Given the description of an element on the screen output the (x, y) to click on. 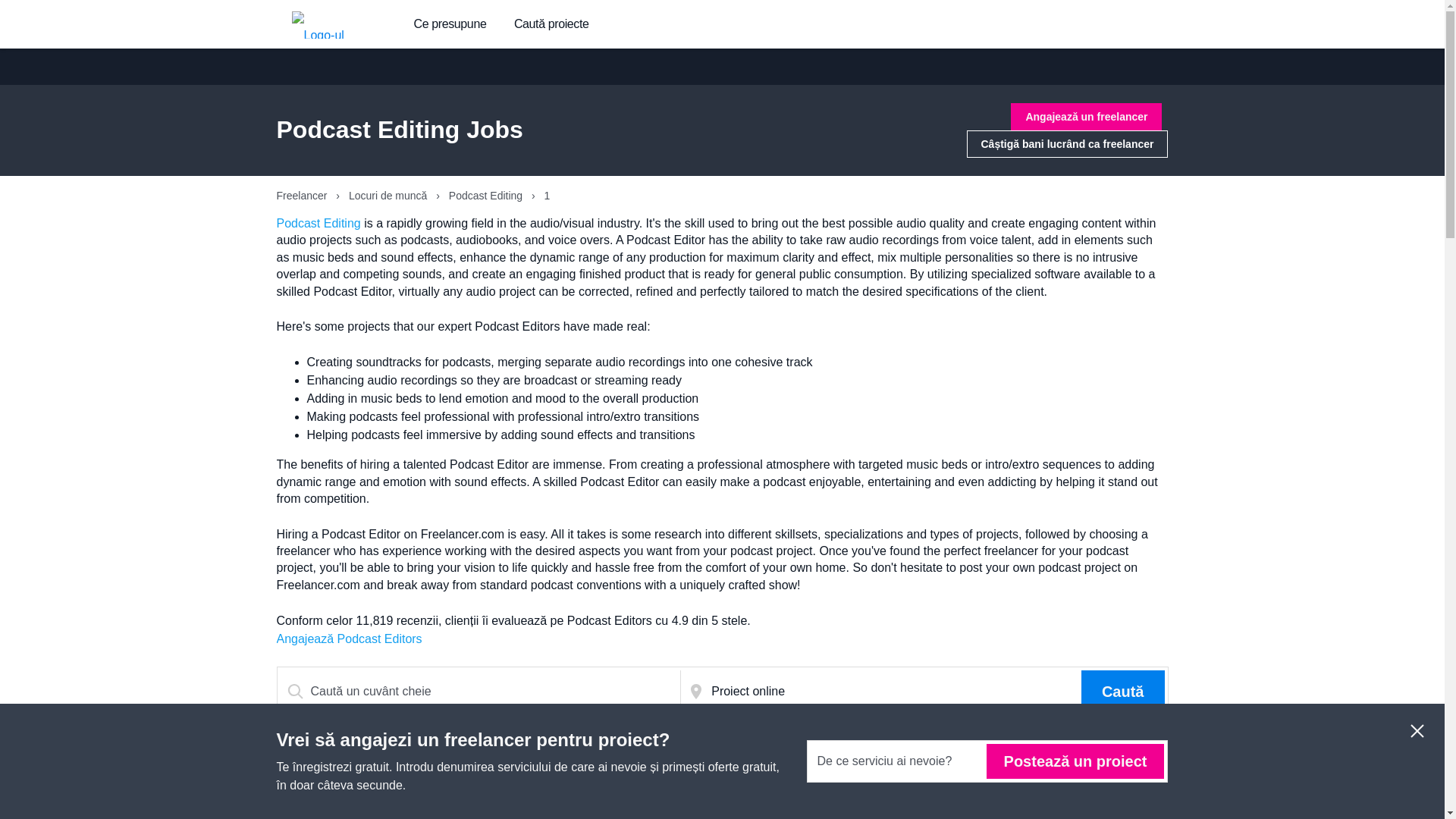
Proiect online (892, 691)
First (1042, 767)
Freelancer (303, 195)
Ce presupune (449, 24)
Proiect online (892, 691)
Podcast Editing (317, 223)
1 (1085, 767)
Podcast Editing (486, 195)
Last (1128, 767)
